Given the description of an element on the screen output the (x, y) to click on. 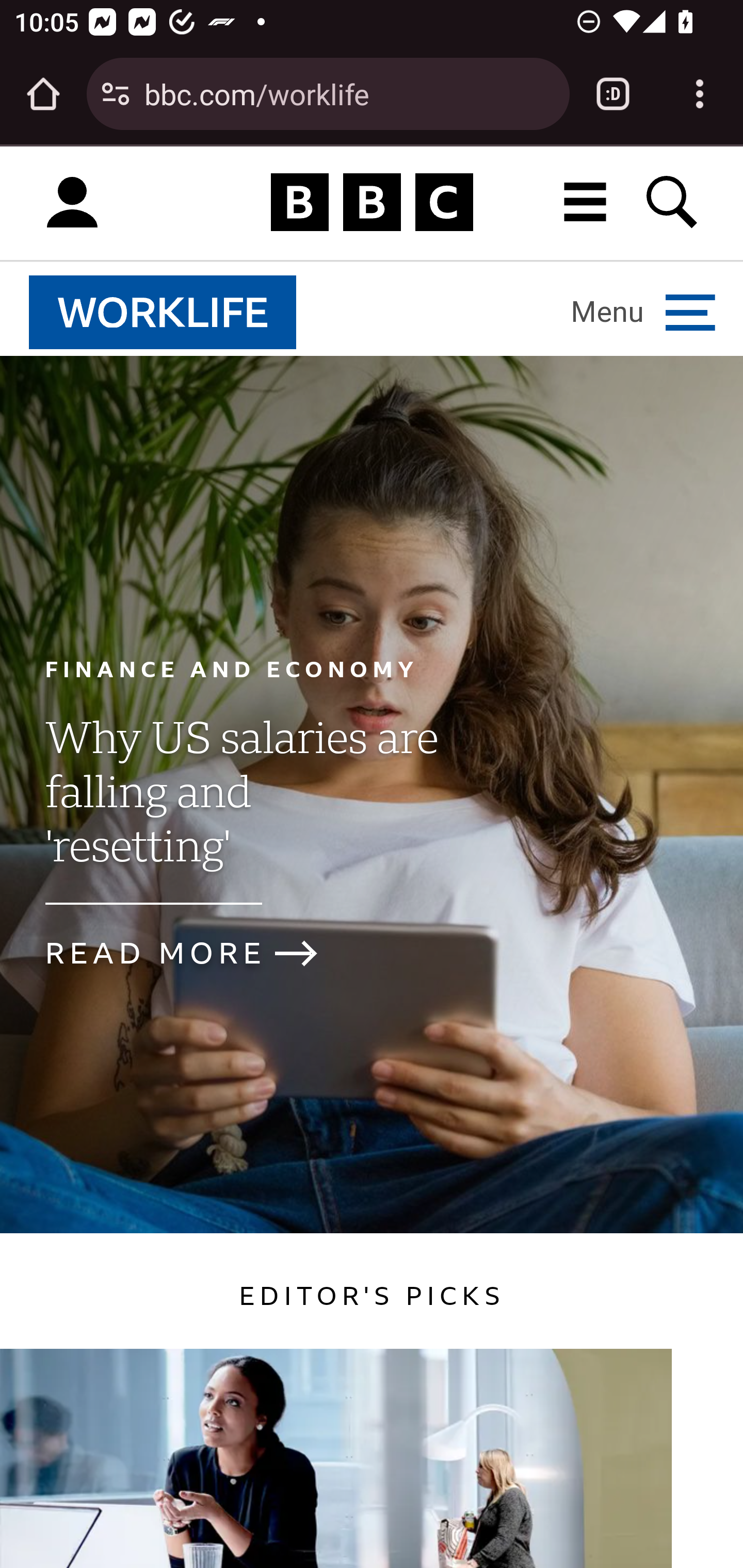
Open the home page (43, 93)
Connection is secure (115, 93)
Switch or close tabs (612, 93)
Customize and control Google Chrome (699, 93)
bbc.com/worklife (349, 92)
All BBC destinations menu (585, 202)
Search BBC (672, 202)
Sign in (71, 203)
Homepage (371, 203)
Open more navigation (643, 311)
worklife (162, 311)
FINANCE AND ECONOMY (231, 668)
Why US salaries are falling and 'resetting' (240, 808)
READ MORE (198, 953)
Woman Walks Past Leadership Ad Lunch Break (336, 1457)
